Given the description of an element on the screen output the (x, y) to click on. 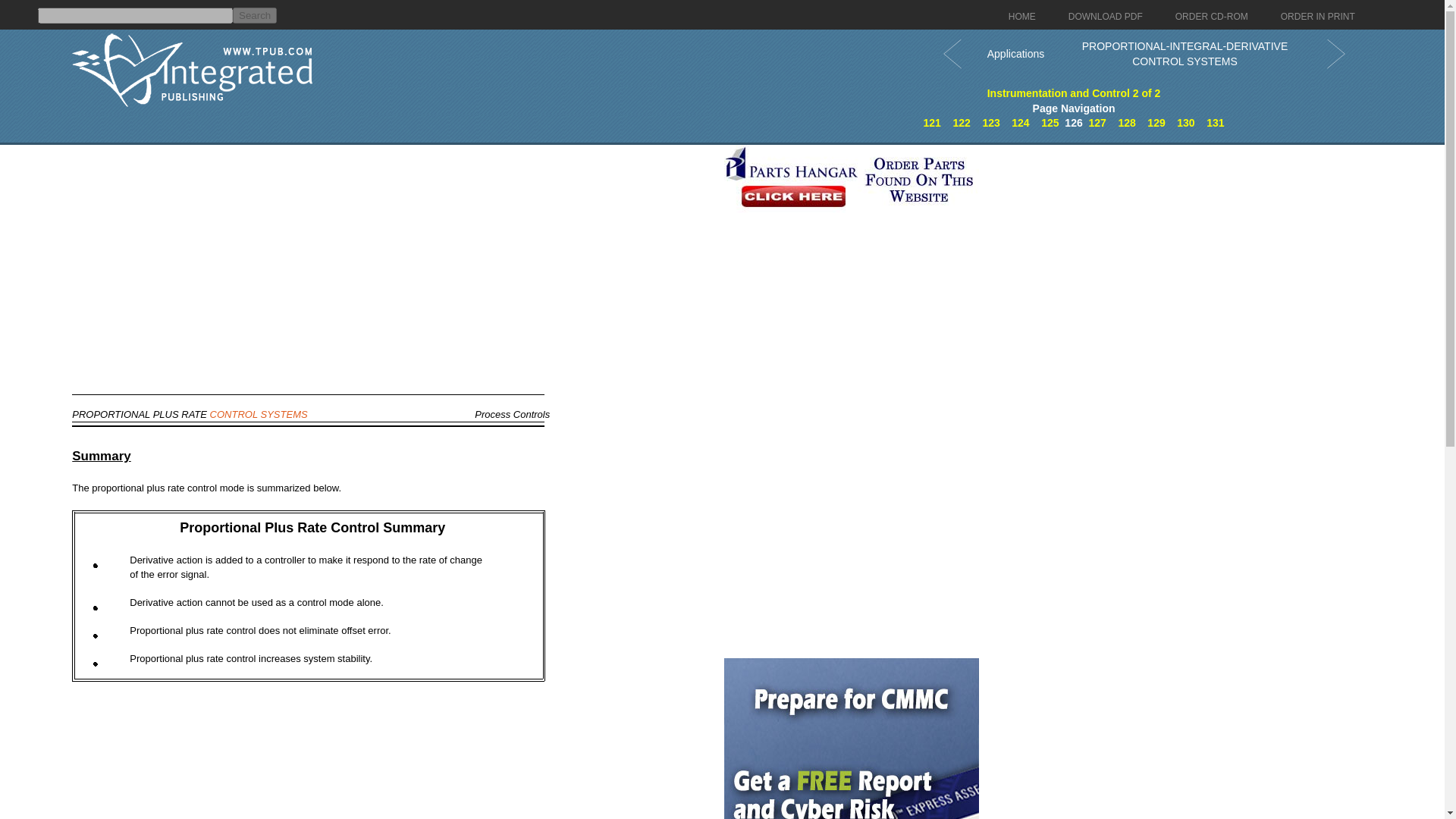
127 (1097, 122)
Advertisement (850, 463)
122 (960, 122)
HOME (1022, 16)
123 (989, 122)
125 (1049, 122)
PROPORTIONAL-INTEGRAL-DERIVATIVE CONTROL SYSTEMS (1097, 122)
Proportional Plus Reset Plus Rate Control Summary (1184, 122)
PROPORTIONAL-INTEGRAL-DERIVATIVE CONTROL SYSTEMS (1184, 53)
Example of Proportional Plus Rate Control (1020, 122)
Search (254, 15)
CONTROL SYSTEMS (258, 414)
130 (1184, 122)
